Given the description of an element on the screen output the (x, y) to click on. 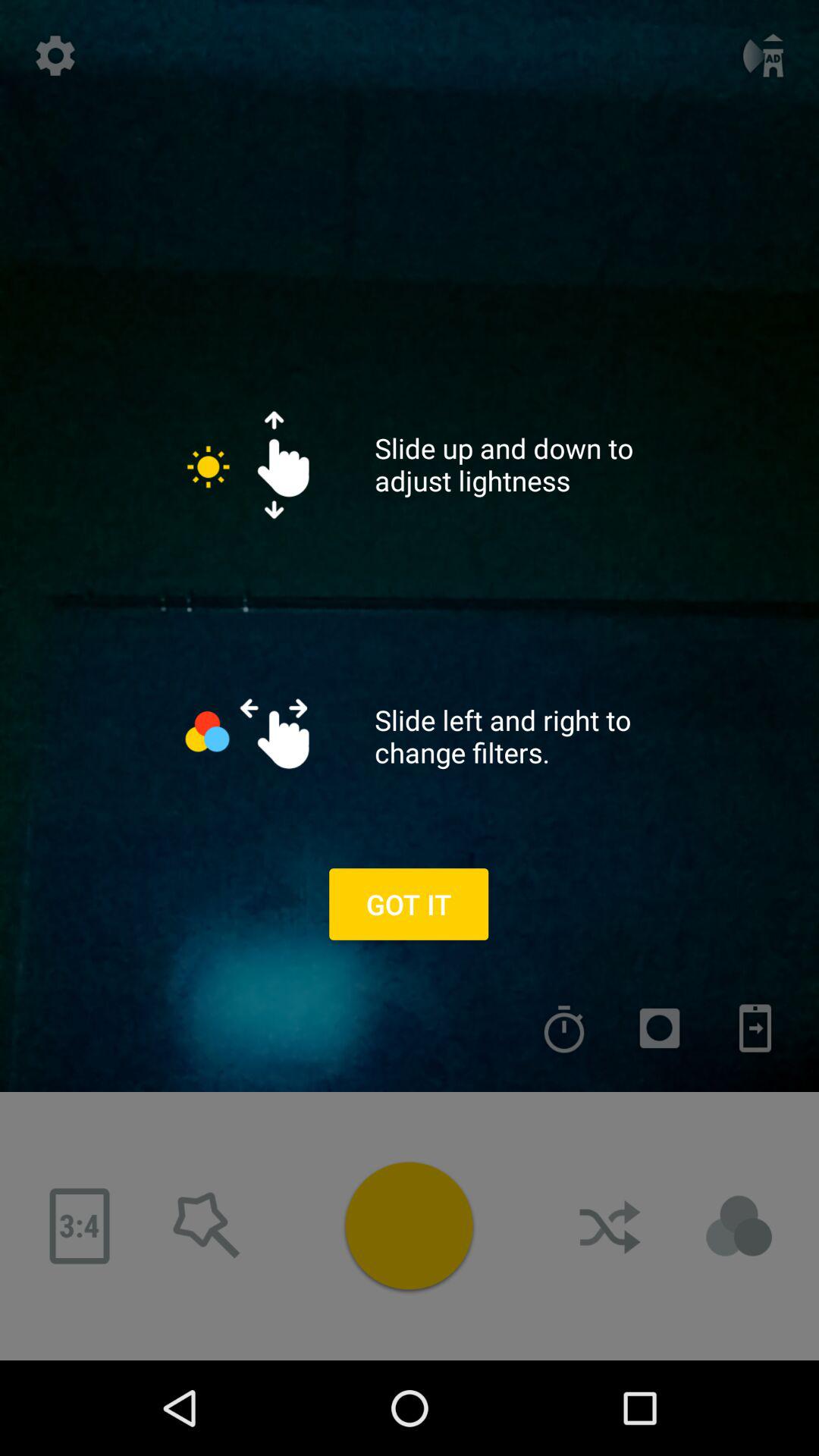
filter select (659, 1028)
